Given the description of an element on the screen output the (x, y) to click on. 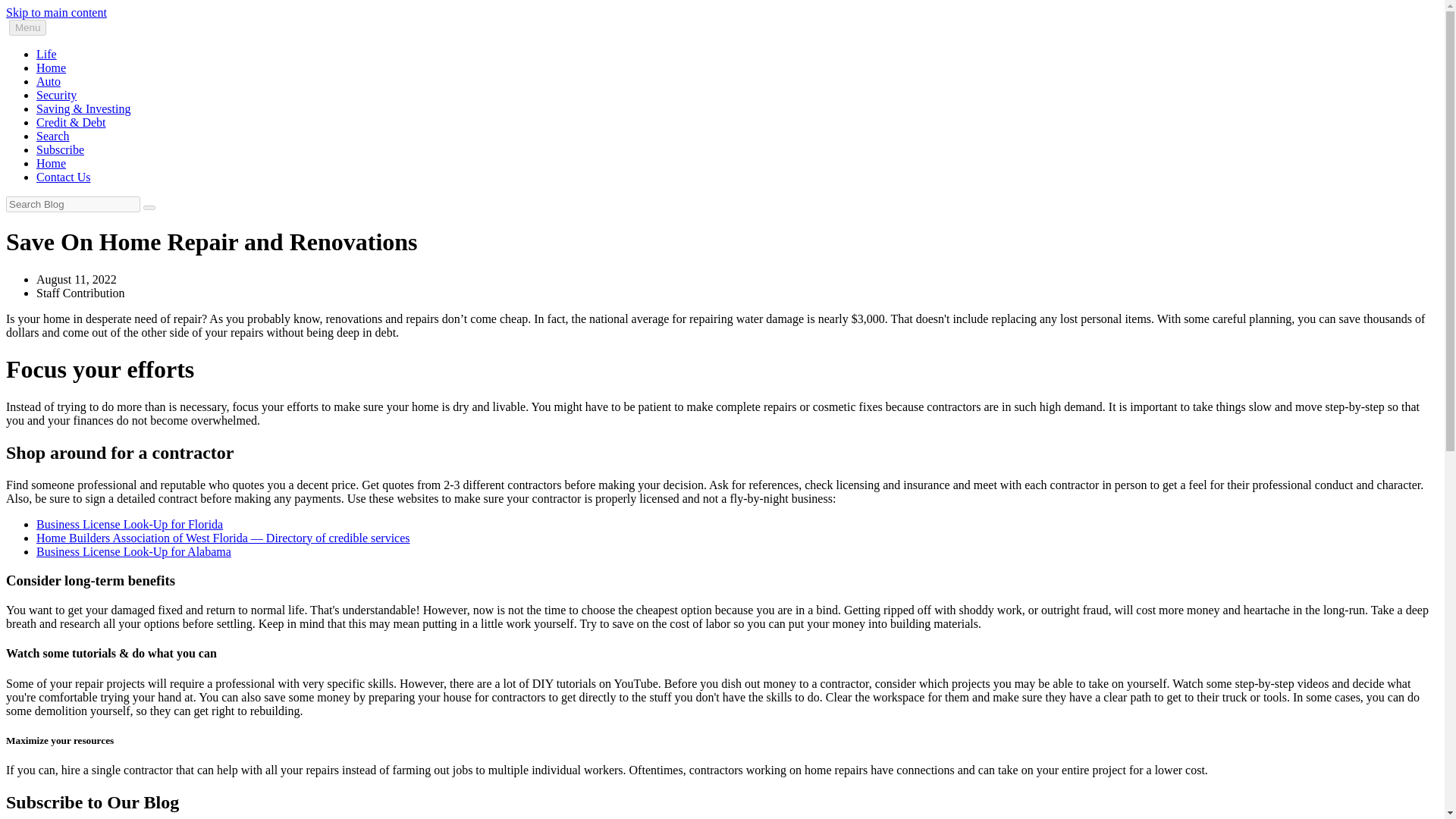
Subscribe (60, 149)
Business License Look-Up for Florida (129, 523)
Skip to main content (55, 11)
Security (56, 94)
Menu (27, 27)
Home (50, 163)
Life (46, 53)
Search (52, 135)
Contact Us (63, 176)
Business License Look-Up for Alabama (133, 551)
Home (50, 67)
Auto (48, 81)
